Given the description of an element on the screen output the (x, y) to click on. 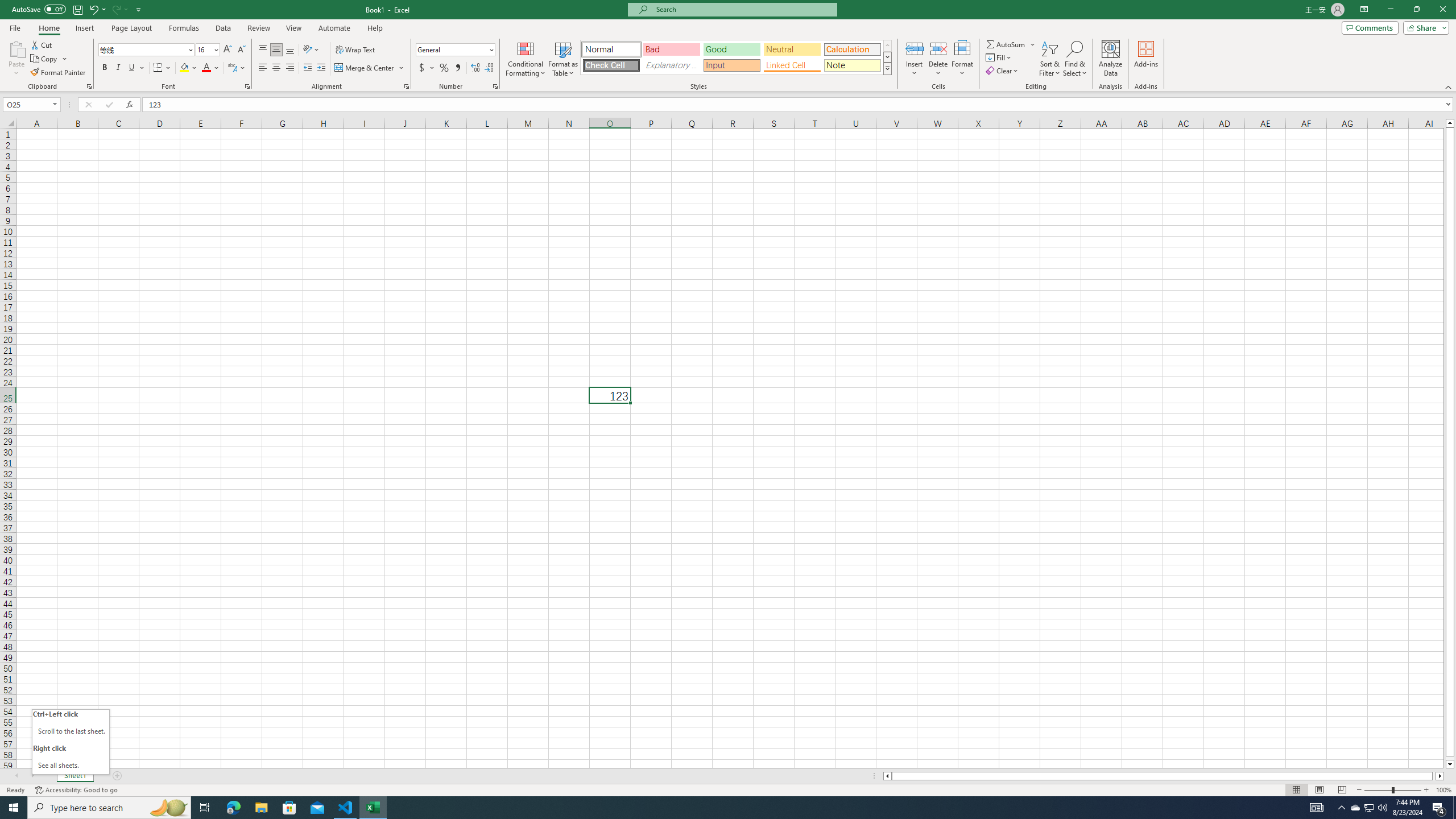
Class: NetUIImage (887, 68)
Show Phonetic Field (231, 67)
Align Left (262, 67)
Delete Cells... (938, 48)
Microsoft search (742, 9)
Number Format (455, 49)
